Given the description of an element on the screen output the (x, y) to click on. 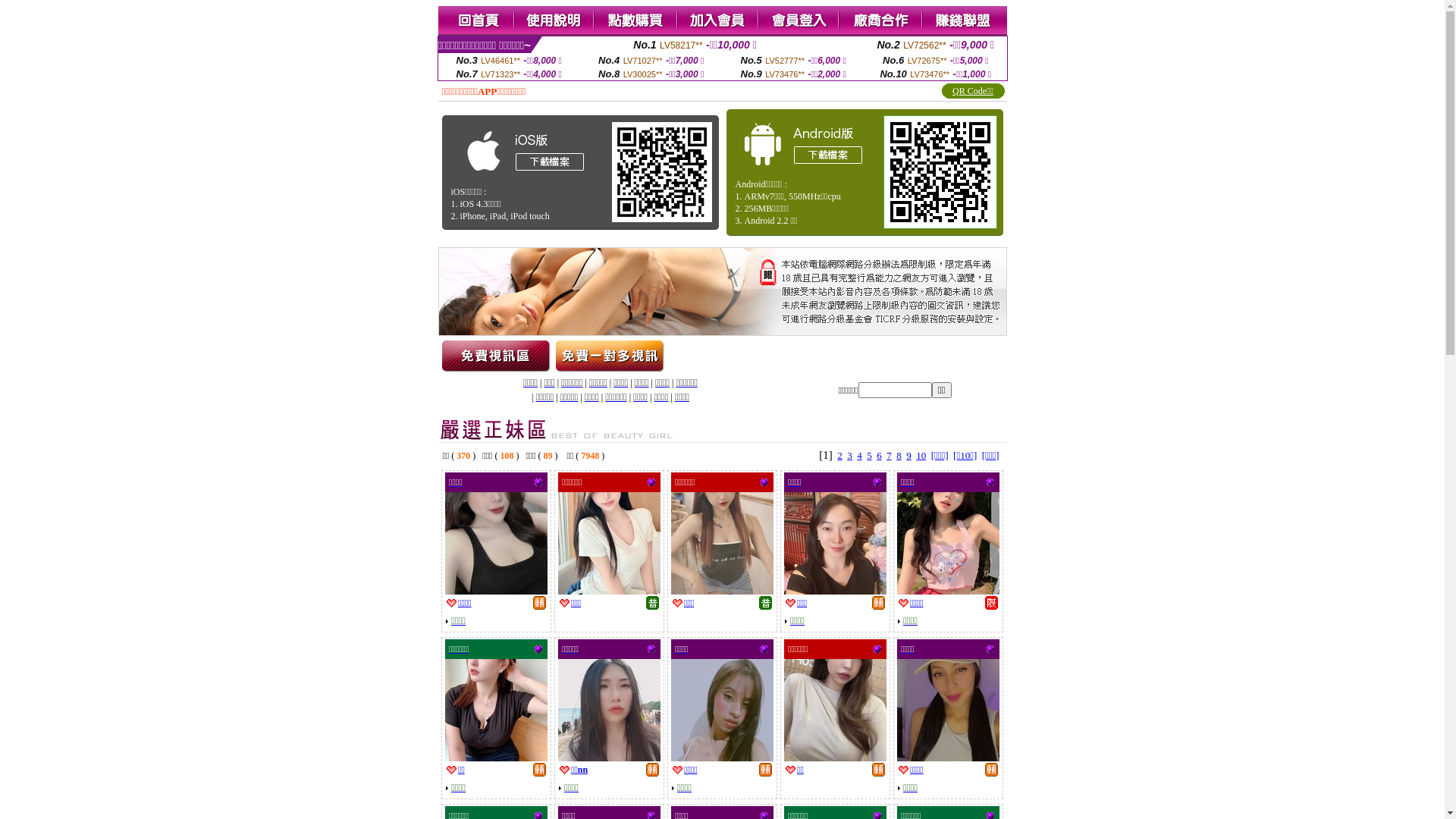
3 Element type: text (849, 455)
5 Element type: text (869, 455)
2 Element type: text (839, 455)
9 Element type: text (908, 455)
6 Element type: text (878, 455)
4 Element type: text (859, 455)
7 Element type: text (888, 455)
10 Element type: text (920, 455)
8 Element type: text (898, 455)
